Given the description of an element on the screen output the (x, y) to click on. 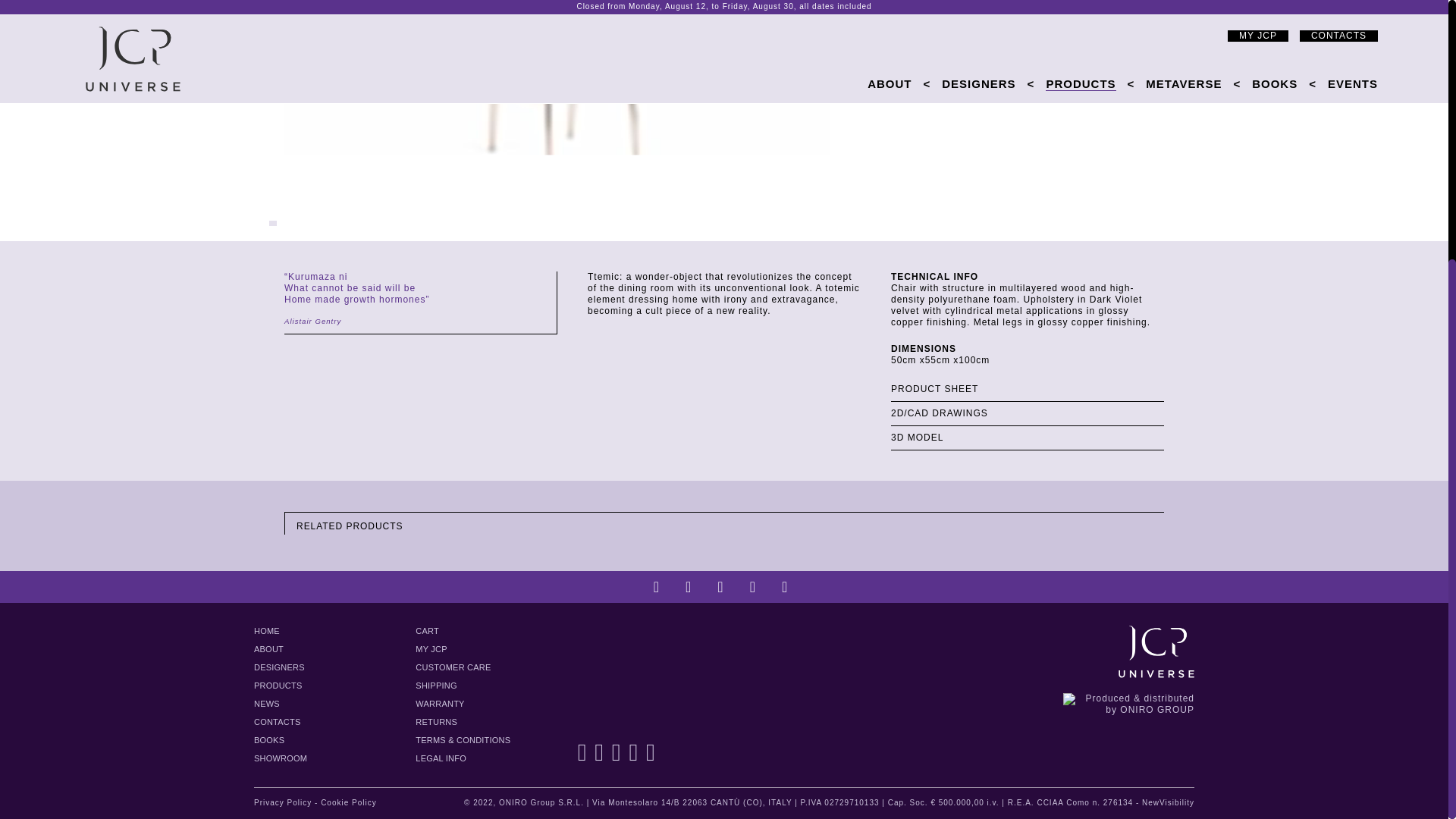
My JCP (430, 649)
Designers (278, 667)
PRODUCT SHEET (1027, 389)
Returns (435, 722)
Customer Care (452, 667)
3D MODEL (1027, 437)
Home (266, 631)
ADD TO CART (1011, 21)
Shipping (435, 685)
Showroom (280, 758)
Add to Cart (1011, 21)
1 (1138, 2)
Cart (426, 631)
Quantity (1138, 2)
